Given the description of an element on the screen output the (x, y) to click on. 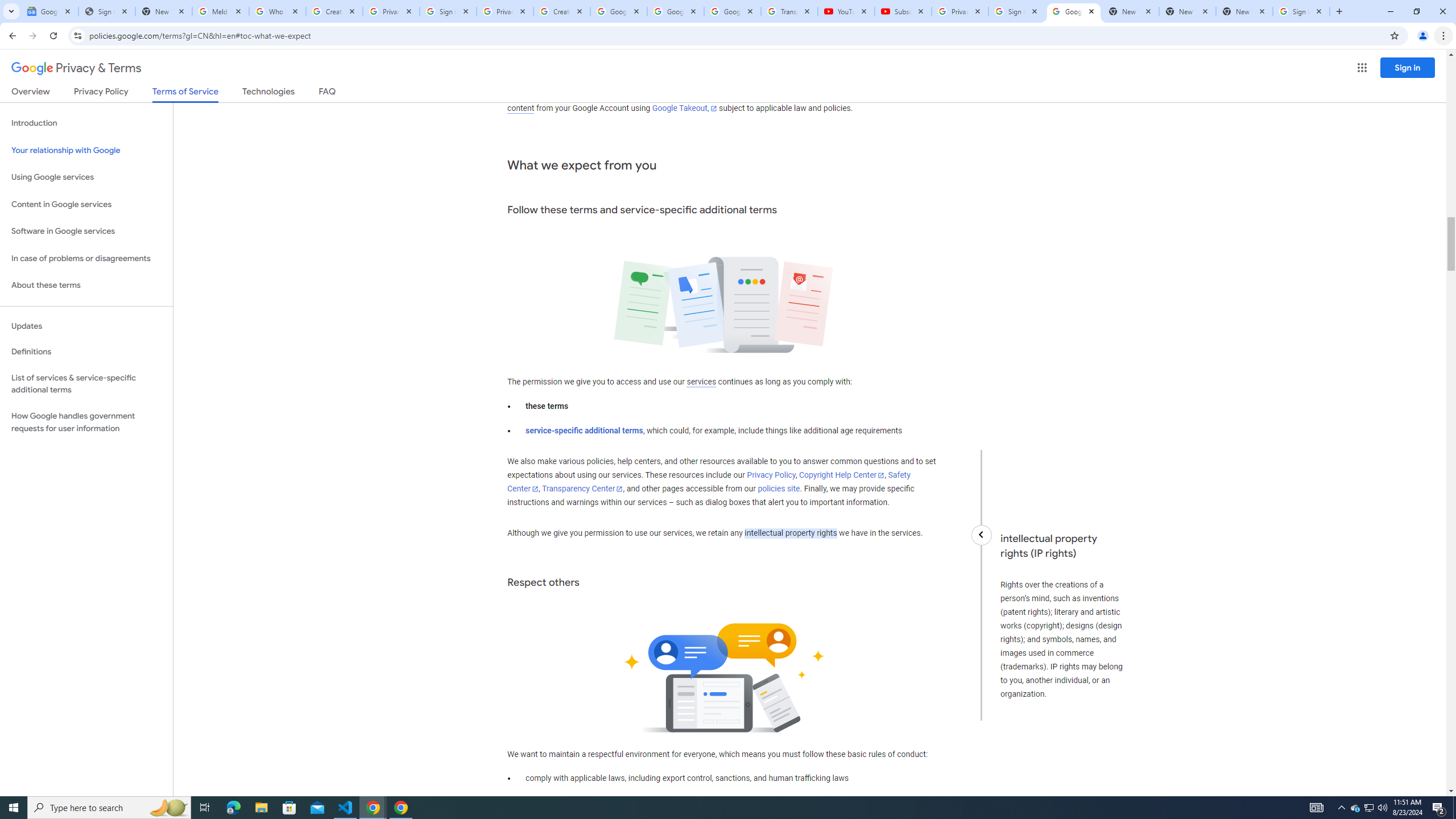
your content (710, 102)
Create your Google Account (561, 11)
Google Account (731, 11)
policies site (778, 488)
